Given the description of an element on the screen output the (x, y) to click on. 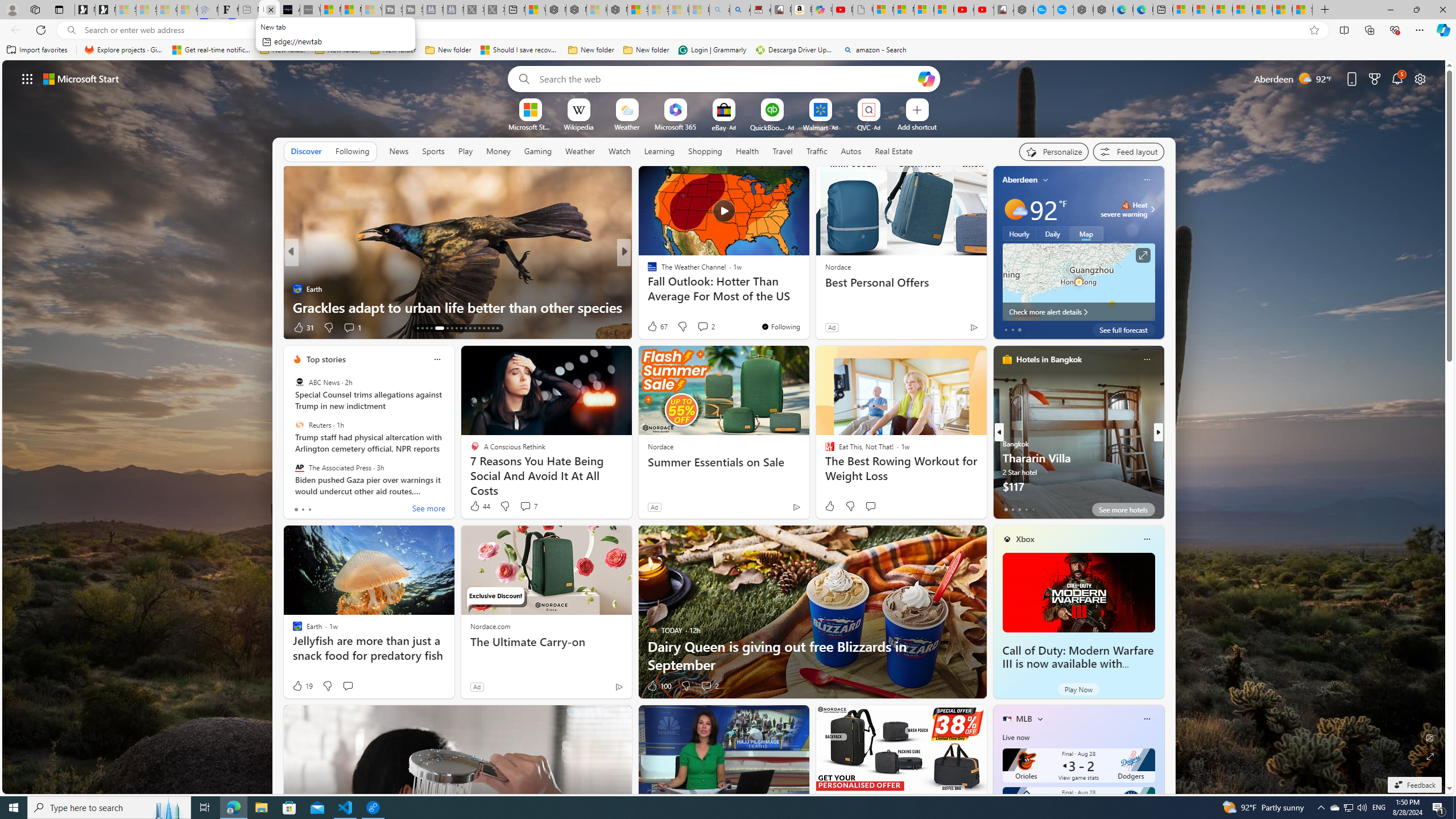
Class: weather-arrow-glyph (1152, 208)
Restore (1416, 9)
Nordace.com (490, 625)
What's the best AI voice generator? - voice.ai - Sleeping (309, 9)
All Cubot phones (1003, 9)
Gloom - YouTube (963, 9)
AutomationID: tab-43 (497, 328)
Watch (619, 151)
AccuWeather (647, 270)
AutomationID: tab-22 (444, 328)
Real Estate (893, 151)
Microsoft 365 (675, 126)
MLB (1024, 718)
Search (520, 78)
